Given the description of an element on the screen output the (x, y) to click on. 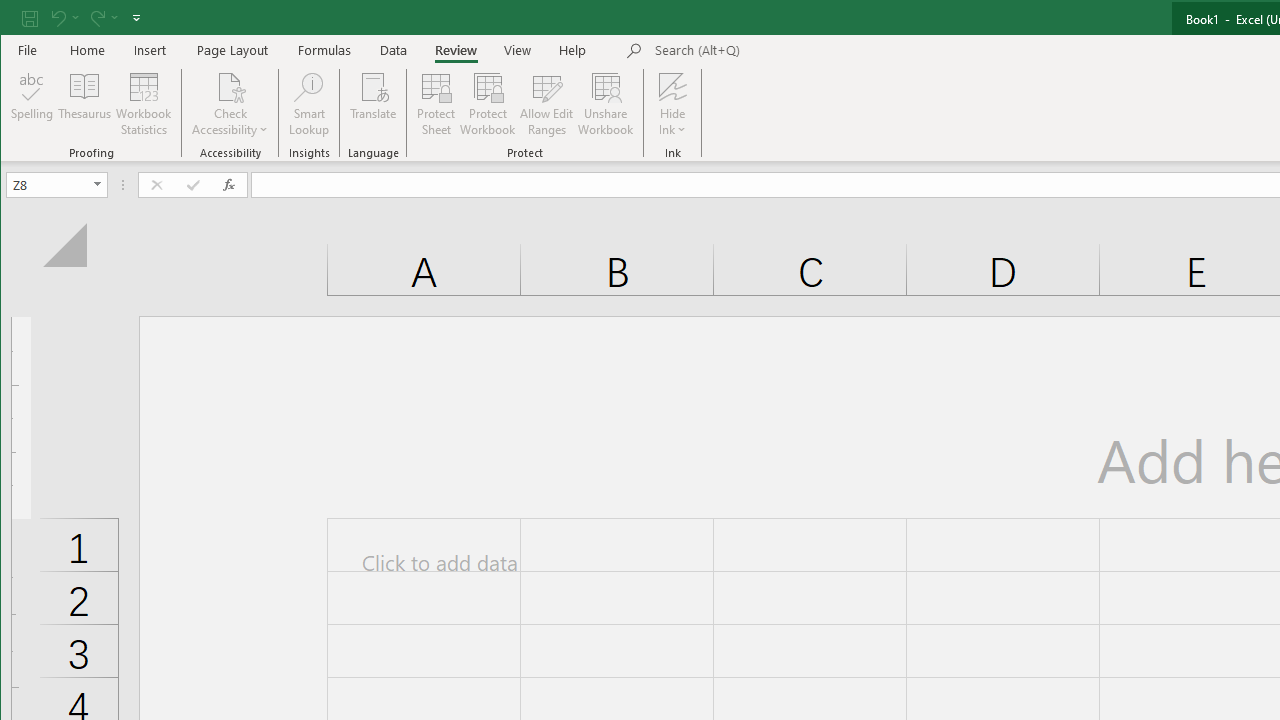
Smart Lookup (308, 104)
Spelling... (32, 104)
Allow Edit Ranges (547, 104)
